Given the description of an element on the screen output the (x, y) to click on. 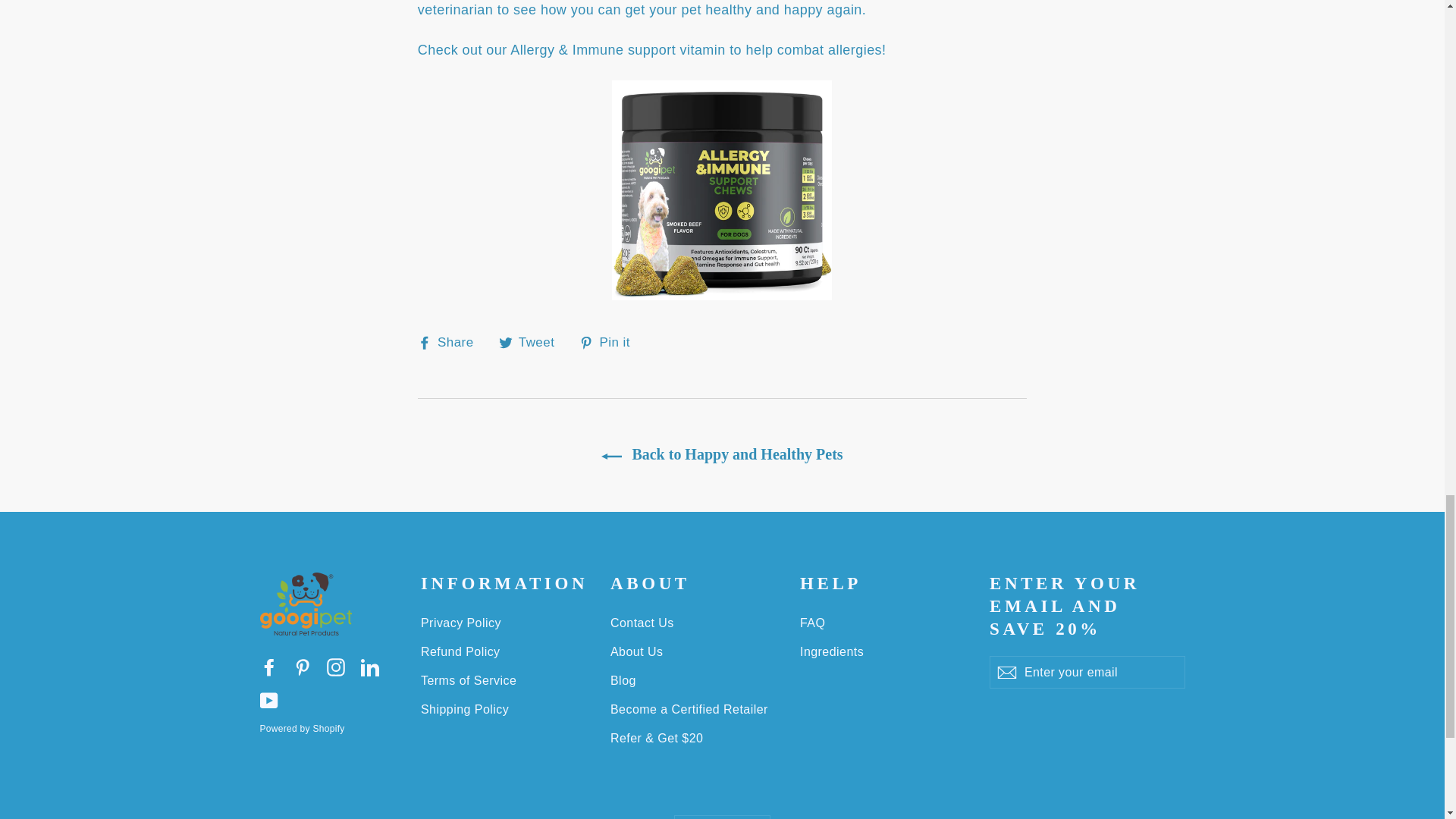
Tweet on Twitter (532, 341)
Share on Facebook (450, 341)
Pin on Pinterest (610, 341)
